Given the description of an element on the screen output the (x, y) to click on. 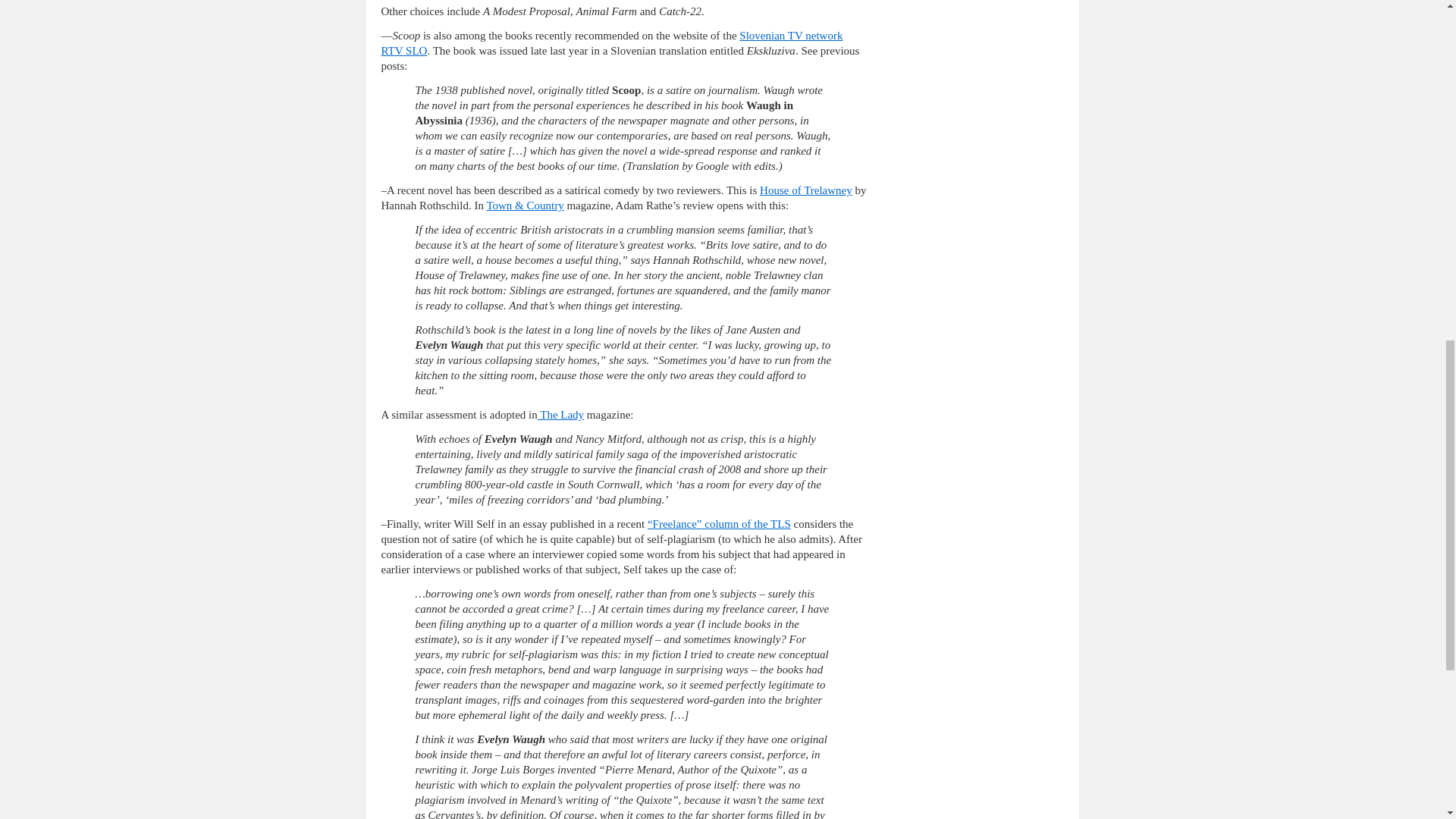
House of Trelawney (805, 190)
Slovenian TV network RTV SLO (611, 42)
The Lady (560, 414)
